Given the description of an element on the screen output the (x, y) to click on. 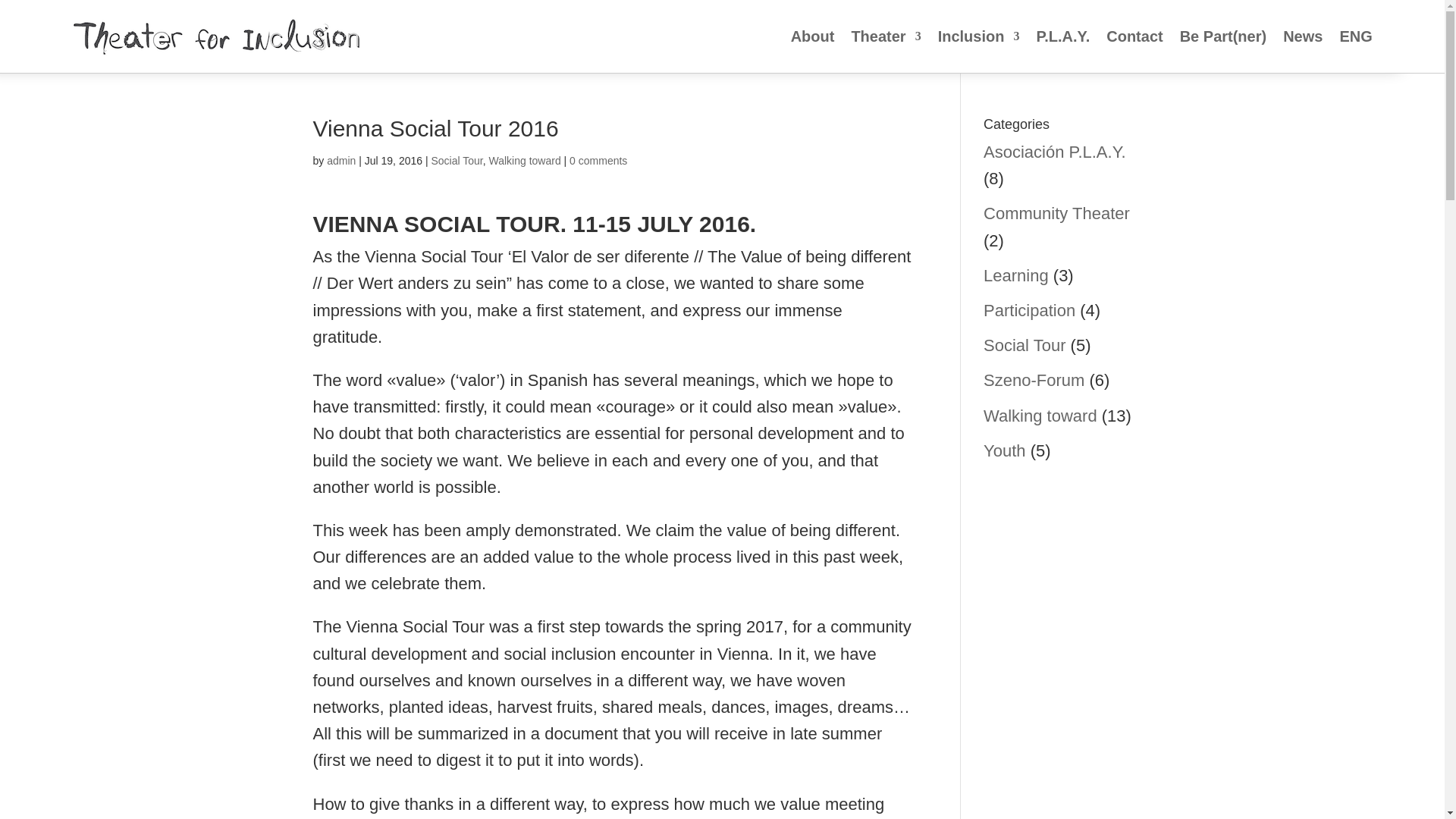
Walking toward (523, 160)
Posts by admin (340, 160)
Contact (1133, 36)
Community Theater (1056, 212)
Social Tour (1024, 344)
Social Tour (455, 160)
Szeno-Forum (1034, 380)
Youth (1004, 450)
Inclusion (978, 36)
admin (340, 160)
Walking toward (1040, 415)
Participation (1029, 310)
0 comments (598, 160)
Theater (885, 36)
Learning (1016, 275)
